Given the description of an element on the screen output the (x, y) to click on. 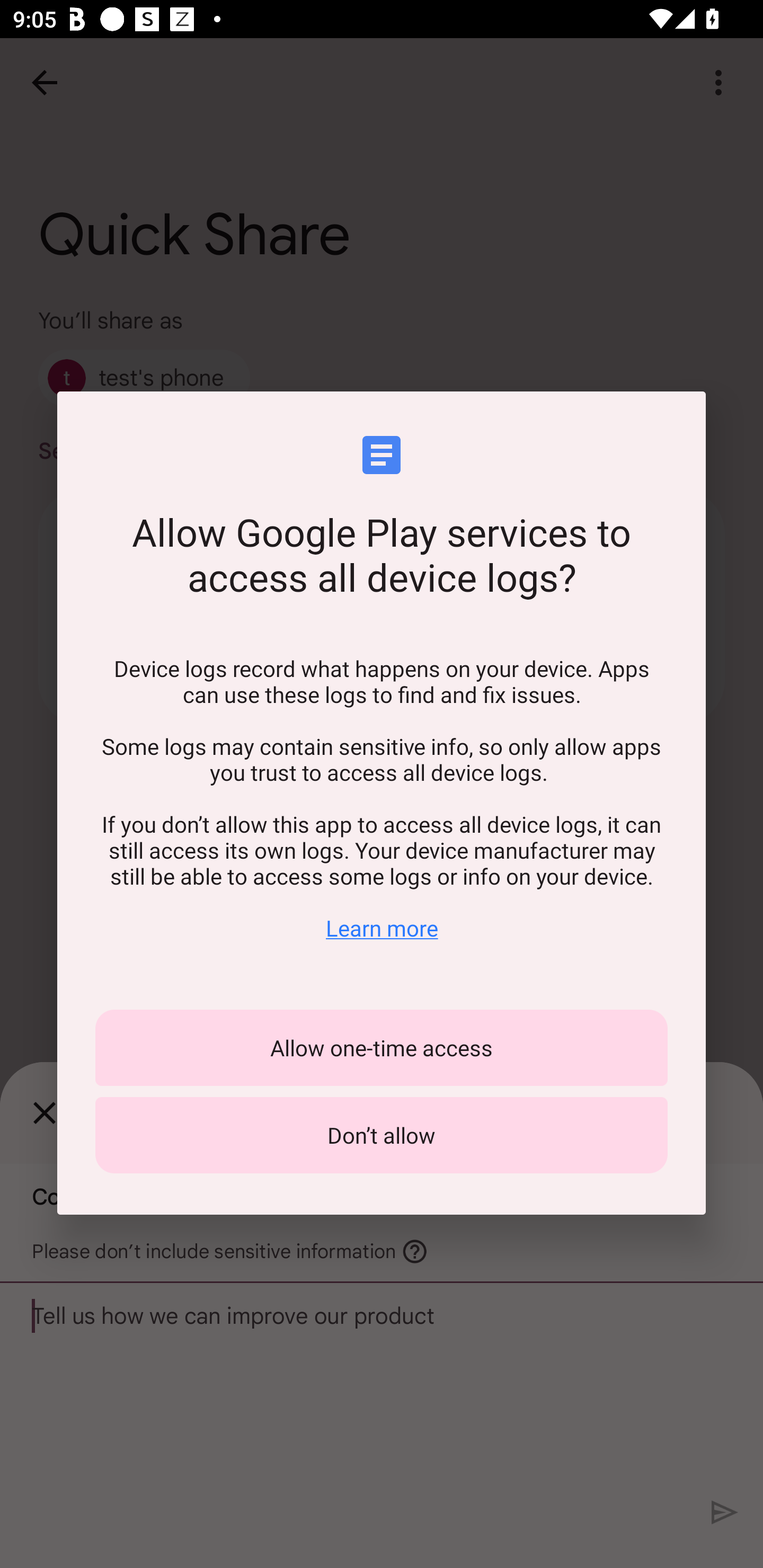
Allow one-time access (381, 1047)
Don’t allow (381, 1134)
